Given the description of an element on the screen output the (x, y) to click on. 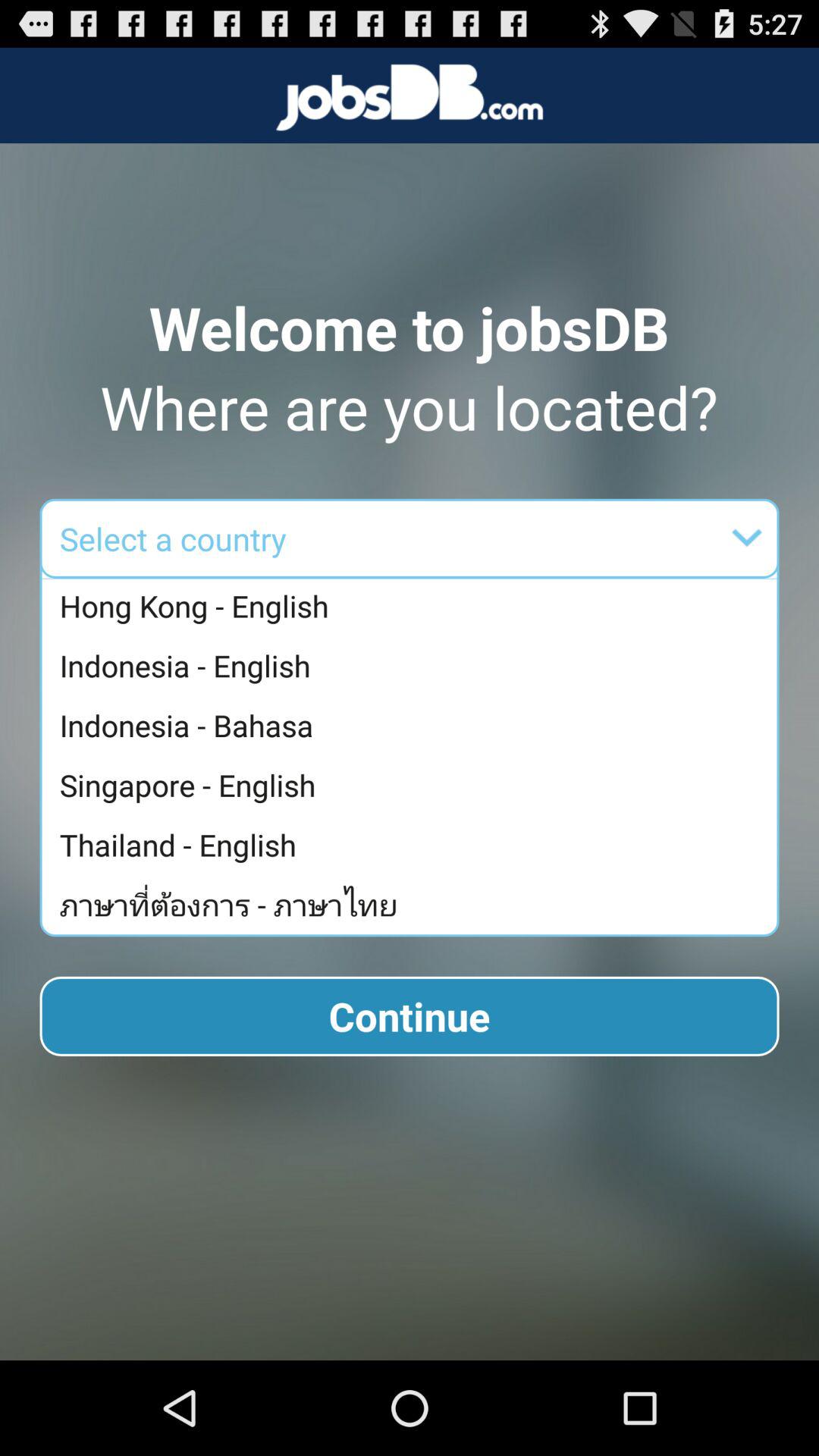
press app above the indonesia - english item (413, 606)
